Given the description of an element on the screen output the (x, y) to click on. 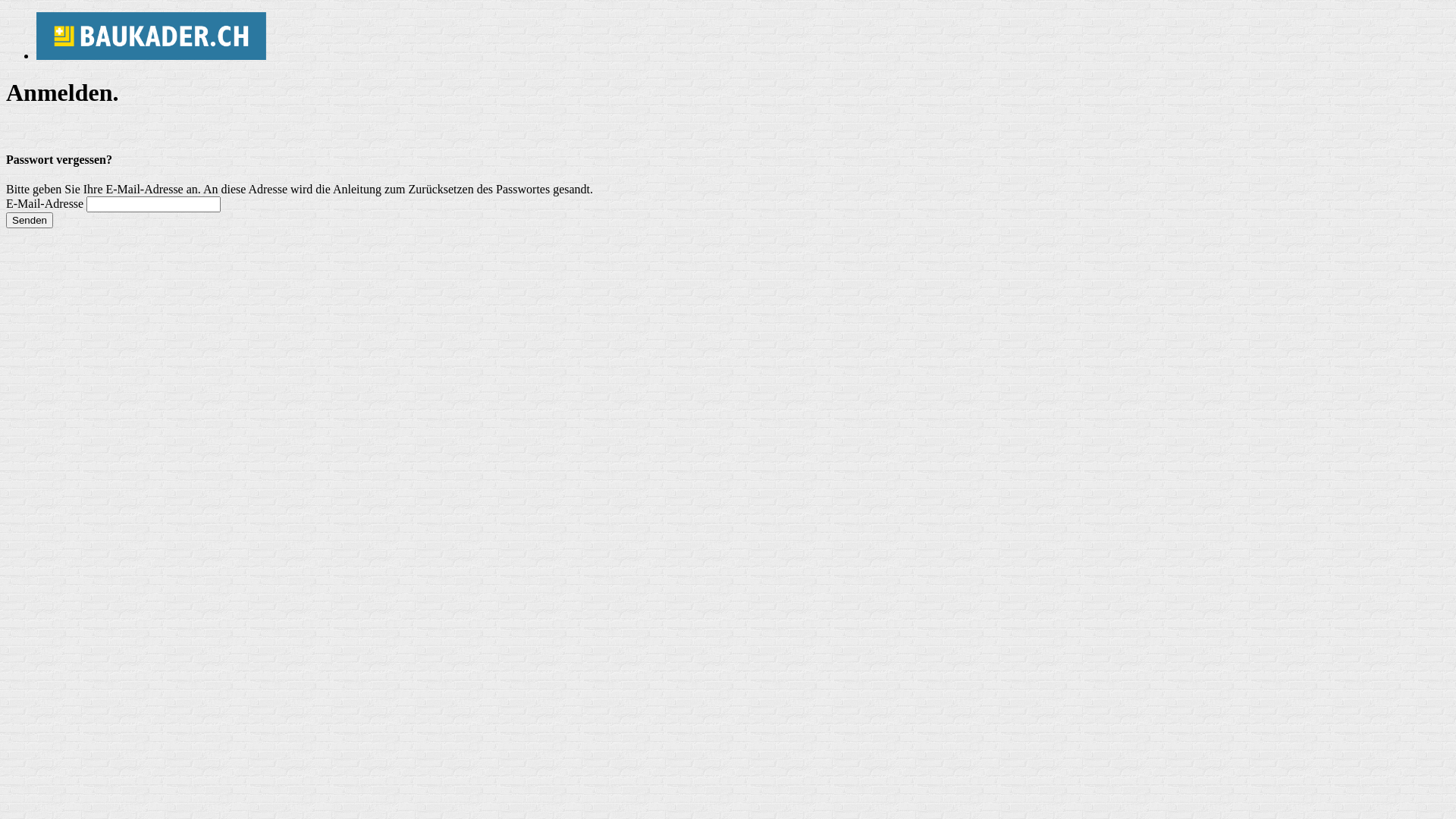
Senden Element type: text (29, 220)
Baukader Zofingen Element type: hover (151, 35)
